Given the description of an element on the screen output the (x, y) to click on. 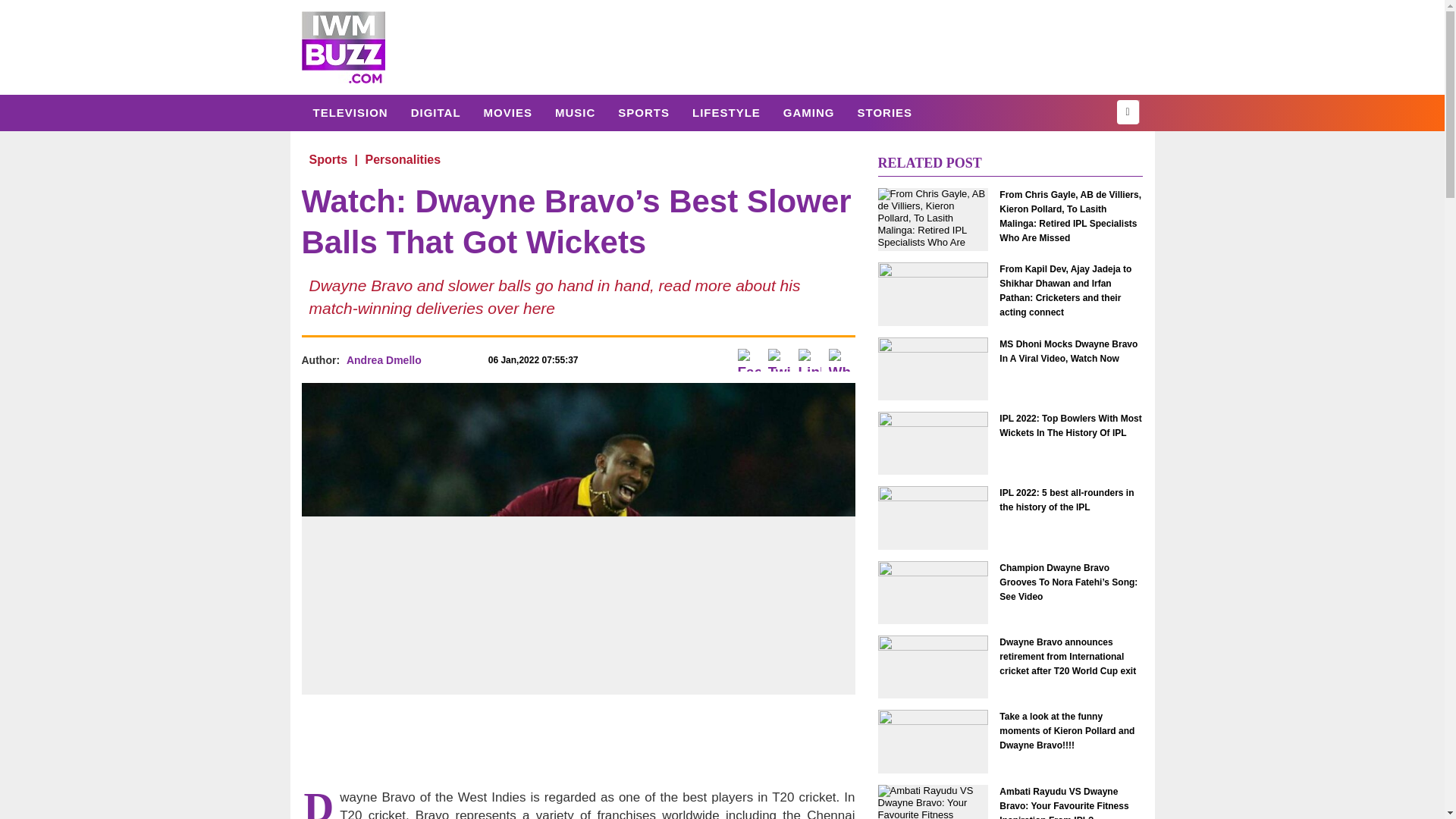
Web Stories (884, 112)
STORIES (884, 112)
MS Dhoni Mocks Dwayne Bravo In A Viral Video, Watch Now (1070, 351)
LIFESTYLE (726, 112)
Gaming (808, 112)
SPORTS (644, 112)
IWMBuzz (343, 46)
MS Dhoni Mocks Dwayne Bravo In A Viral Video, Watch Now (1070, 351)
Movies (507, 112)
Andrea Dmello (384, 359)
Digital (434, 112)
Television (349, 112)
MOVIES (507, 112)
